Given the description of an element on the screen output the (x, y) to click on. 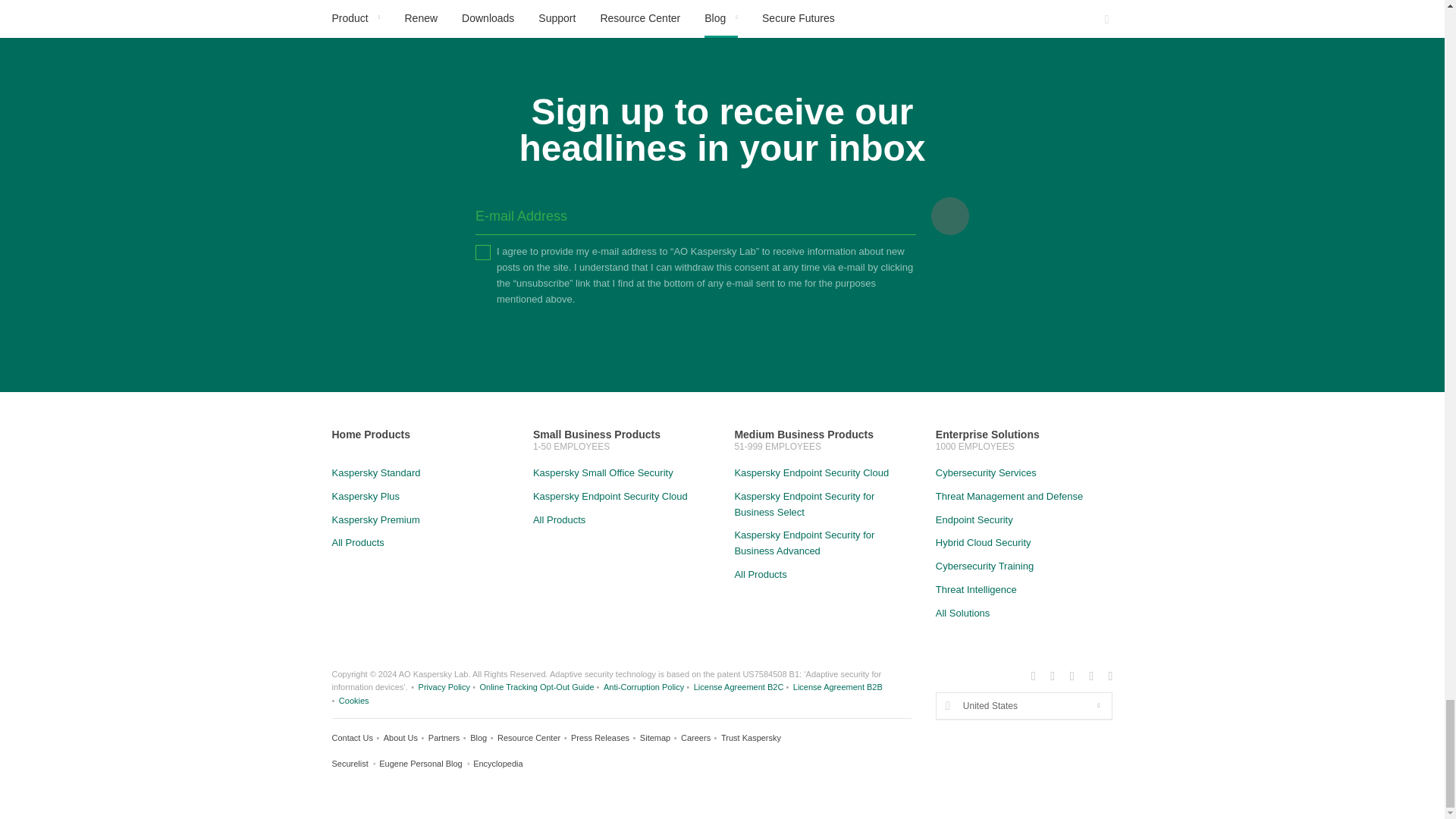
Sign me Up (950, 216)
